Given the description of an element on the screen output the (x, y) to click on. 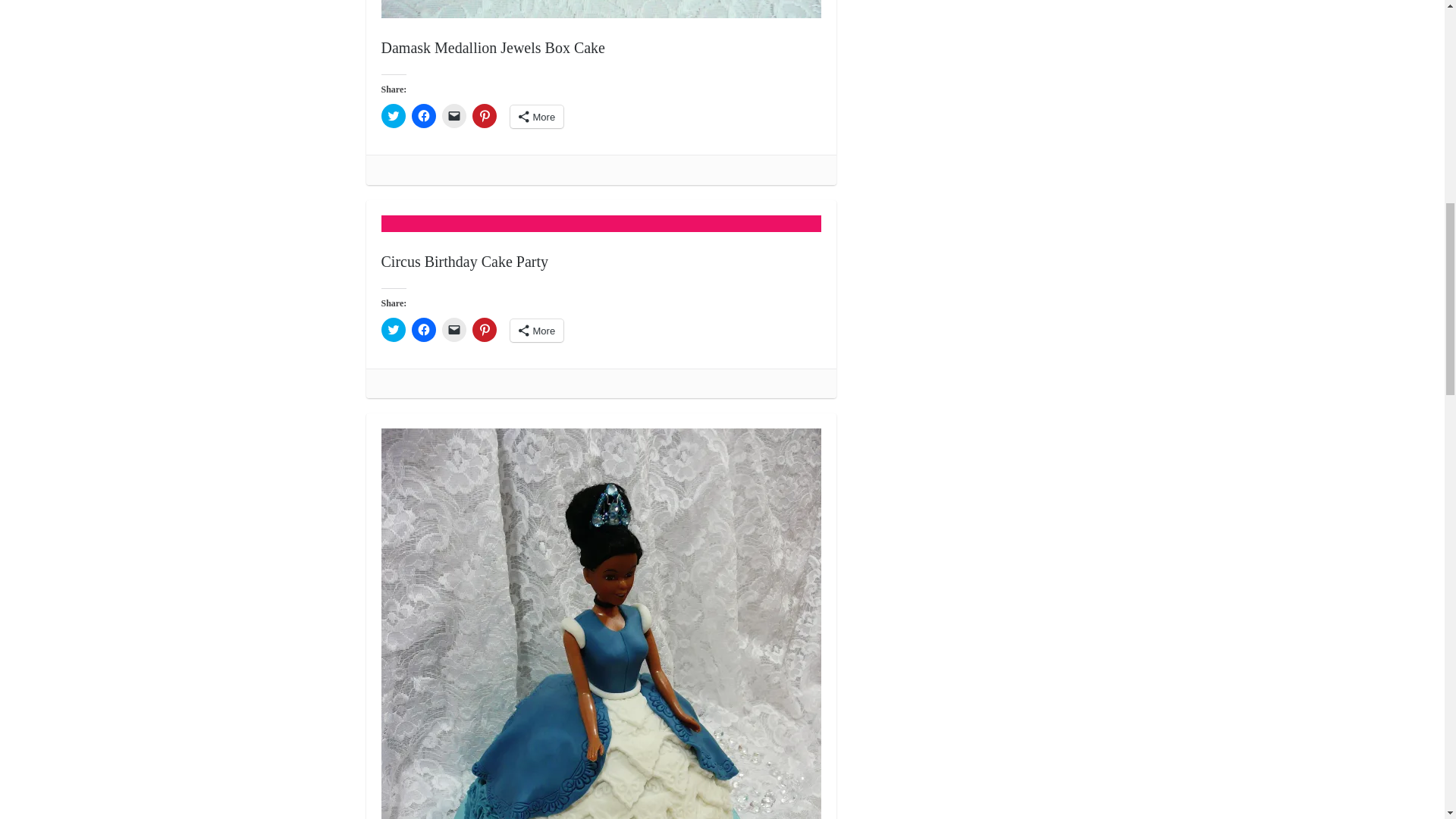
Click to email a link to a friend (453, 115)
Damask Medallion Jewels Box Cake (492, 47)
Click to share on Facebook (422, 115)
Click to share on Twitter (392, 115)
More (536, 116)
Click to share on Twitter (392, 329)
Permanent Link to Circus Birthday Cake Party (464, 261)
Click to share on Facebook (422, 329)
Click to share on Pinterest (483, 115)
Permanent Link to Damask Medallion Jewels Box Cake (600, 9)
